Given the description of an element on the screen output the (x, y) to click on. 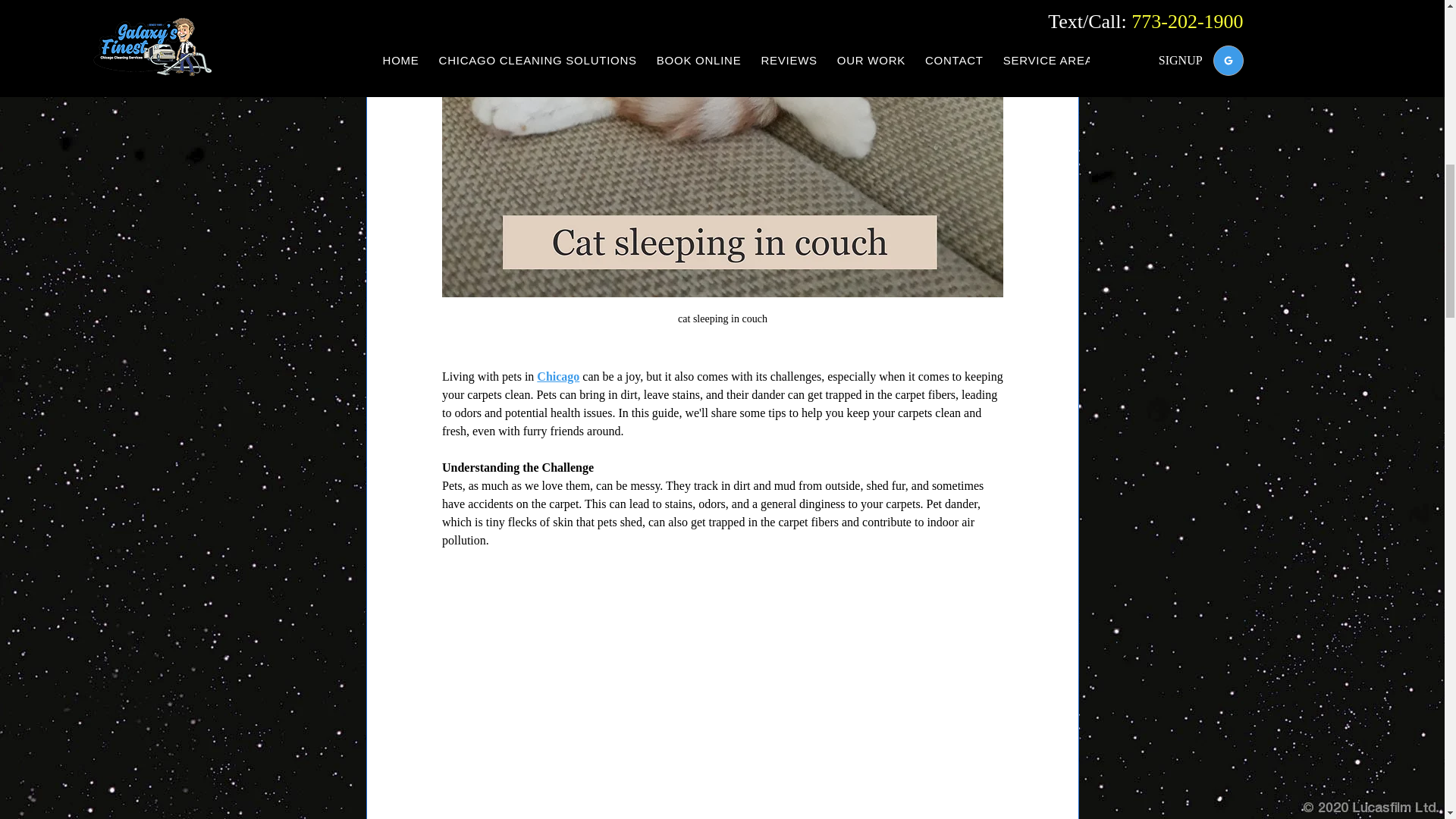
Chicago (558, 376)
